Given the description of an element on the screen output the (x, y) to click on. 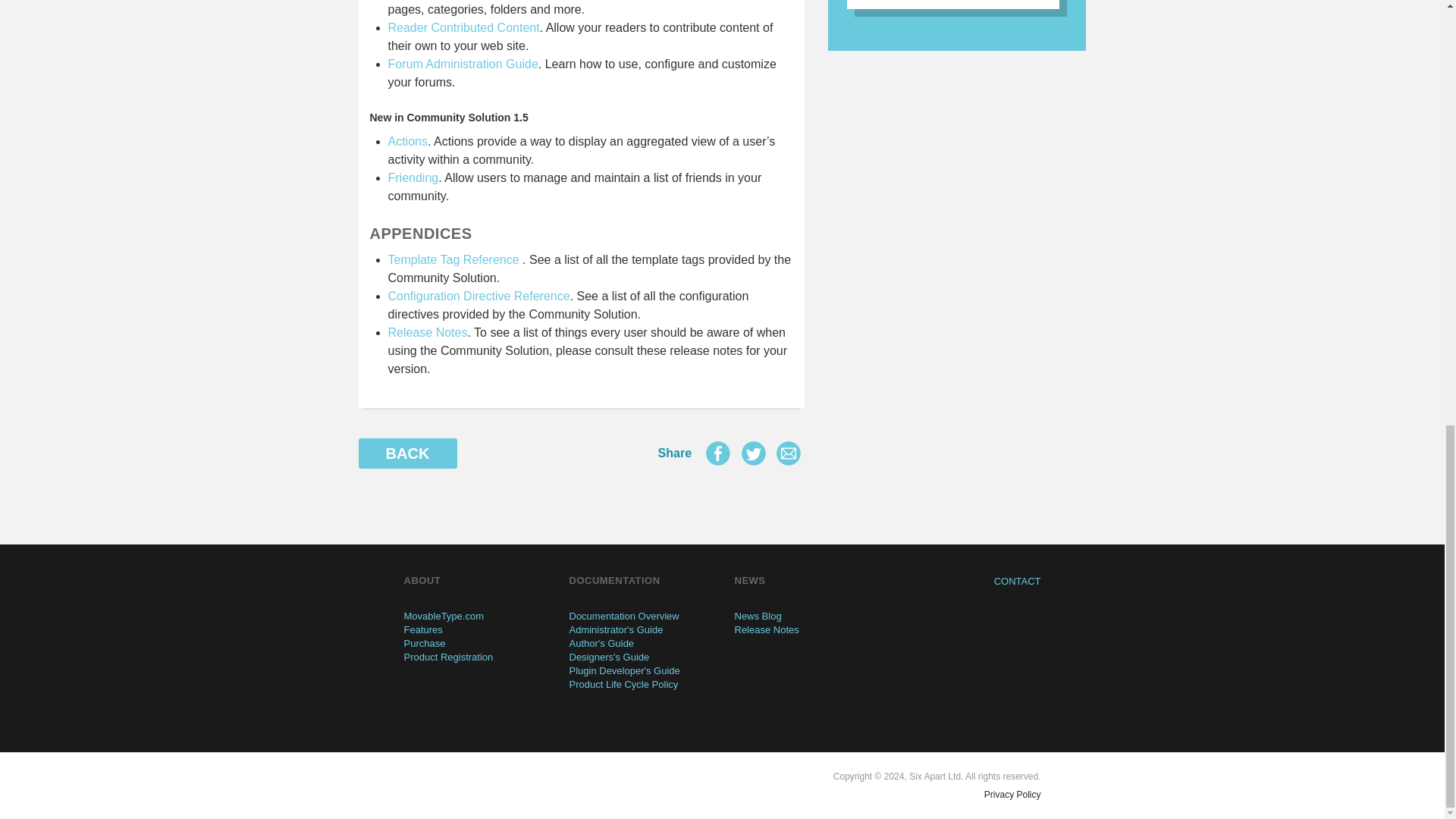
Forum Administration Guide (463, 63)
Template Tag Reference (453, 259)
Friending (413, 177)
Configuration Directive Reference (479, 295)
Release Notes (427, 332)
Reader Contributed Content (464, 27)
BACK (407, 453)
Actions (408, 141)
